Given the description of an element on the screen output the (x, y) to click on. 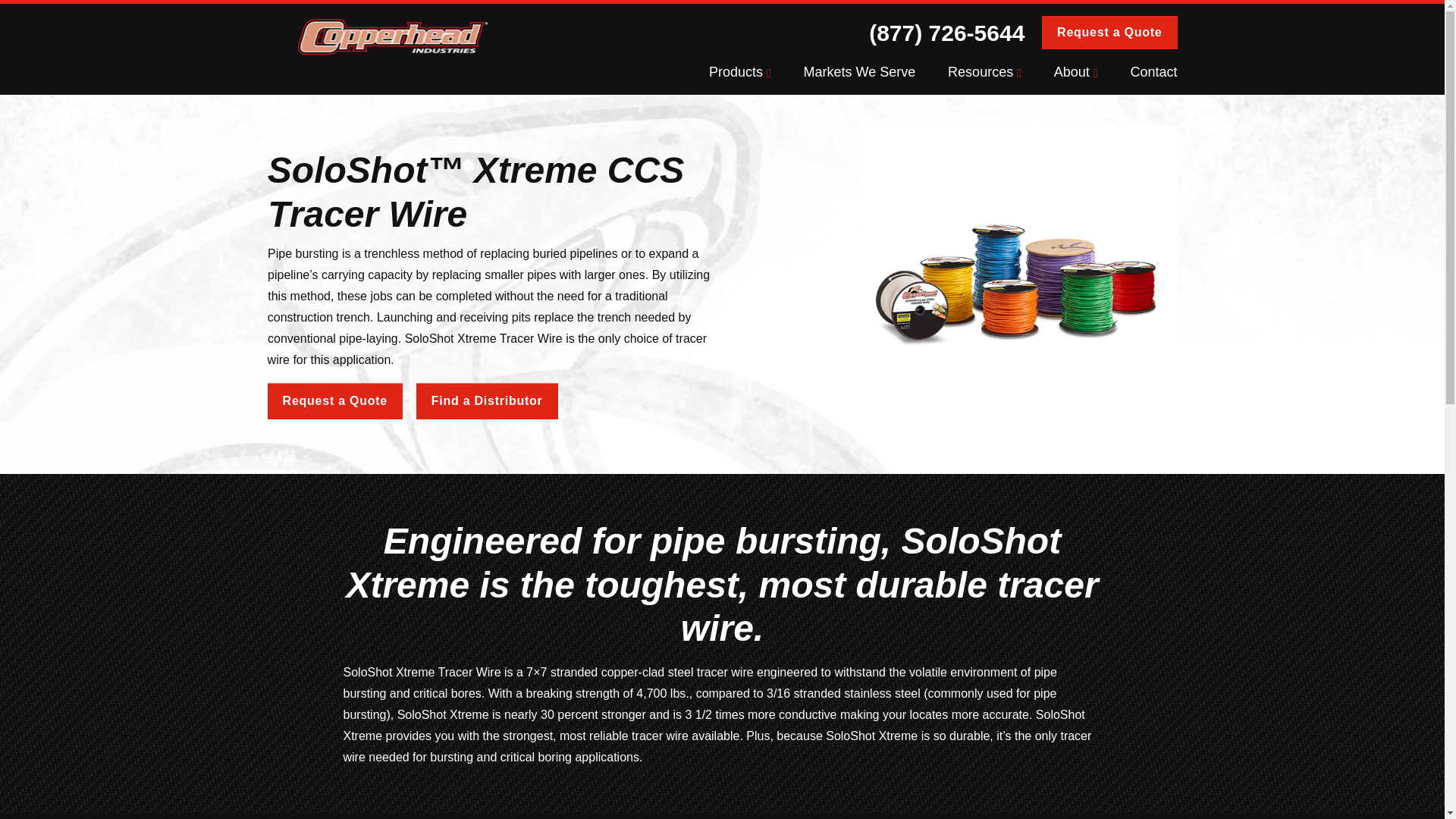
Markets We Serve (874, 75)
Products (755, 75)
Resources (999, 75)
About (1091, 75)
Resources (999, 75)
Copperhead Wire (751, 54)
Request a Quote (1109, 32)
About (1091, 75)
Products (755, 75)
